Given the description of an element on the screen output the (x, y) to click on. 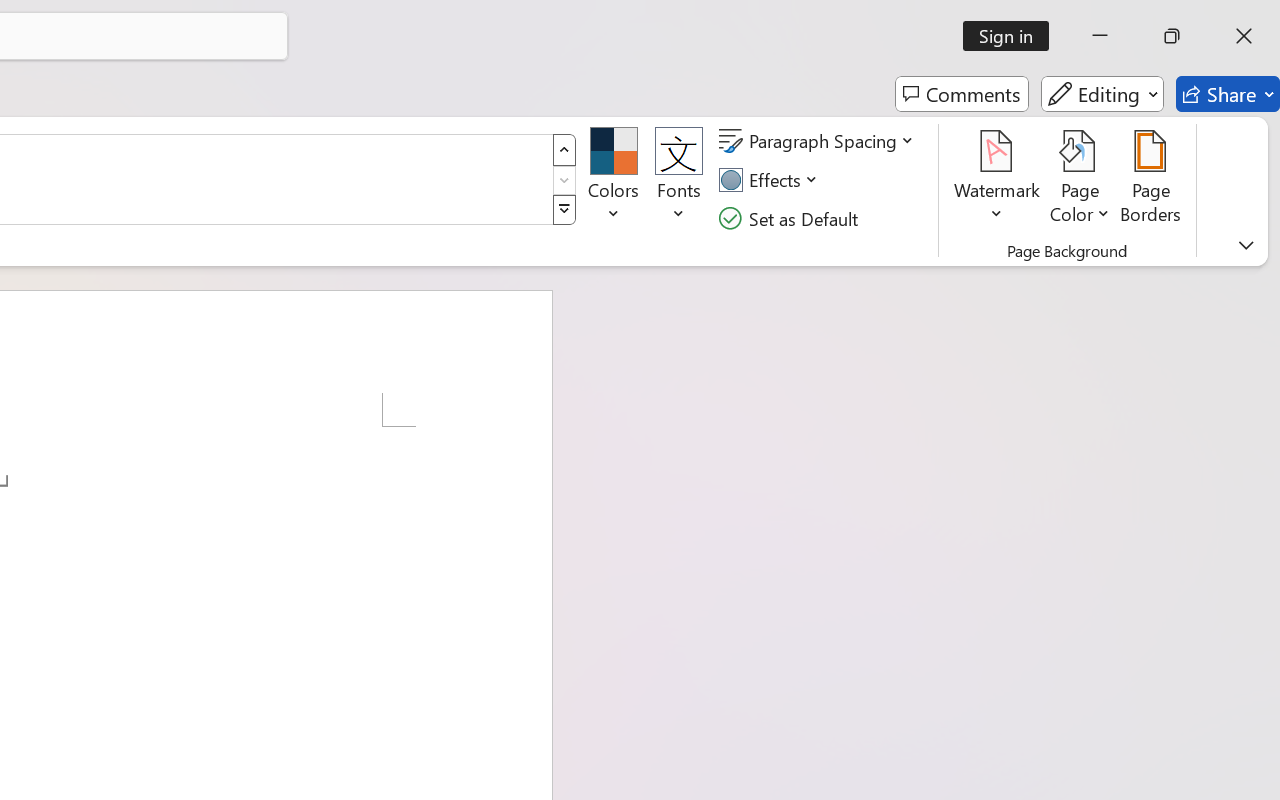
Fonts (678, 179)
Watermark (997, 179)
Style Set (564, 209)
Colors (613, 179)
Page Color (1080, 179)
Sign in (1012, 35)
Editing (1101, 94)
Paragraph Spacing (819, 141)
Page Borders... (1151, 179)
